Given the description of an element on the screen output the (x, y) to click on. 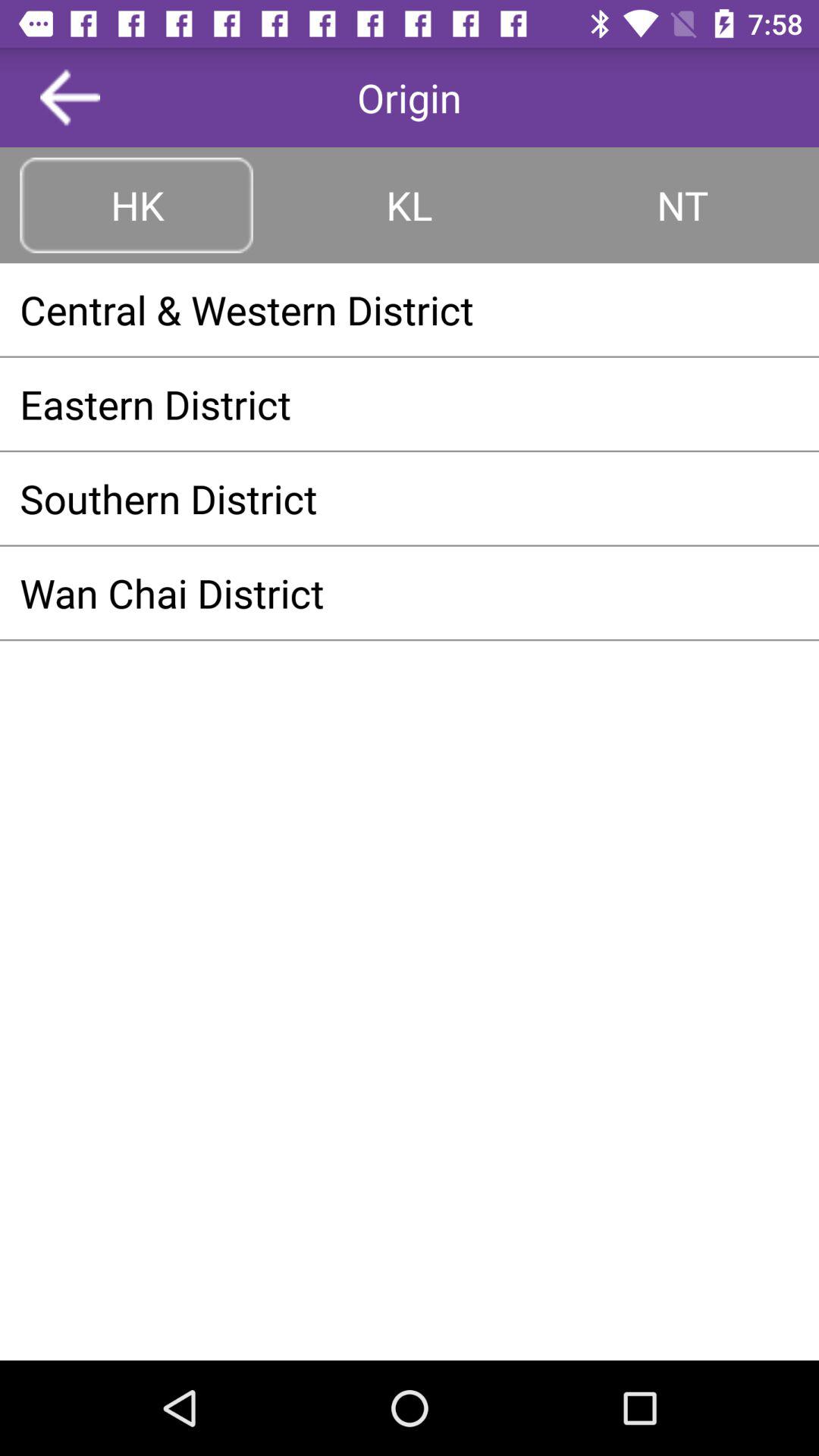
select the item next to hk button (409, 205)
